Given the description of an element on the screen output the (x, y) to click on. 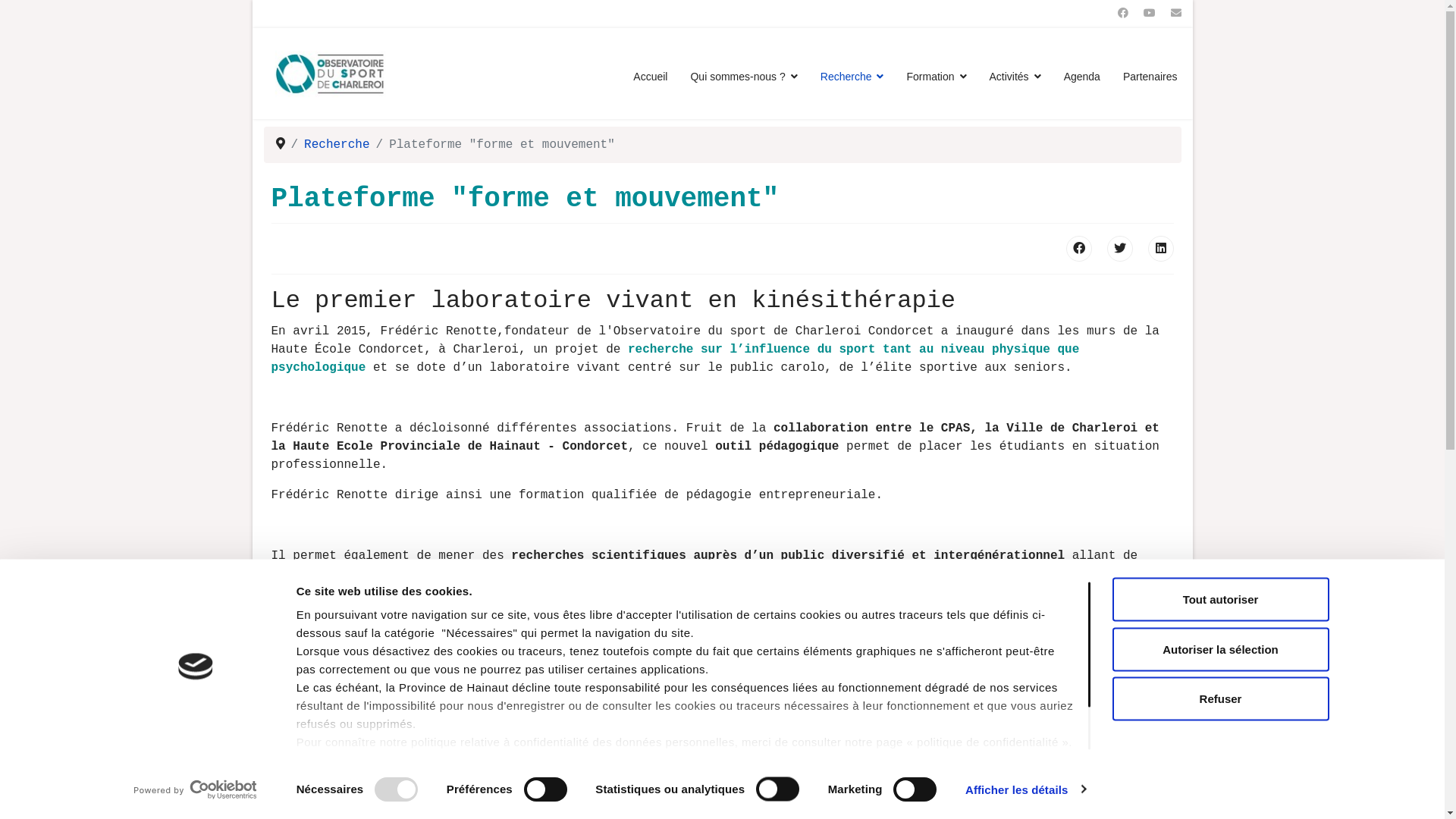
Recherche Element type: text (336, 144)
Refuser Element type: text (1219, 698)
Recherche Element type: text (852, 76)
Qui sommes-nous ? Element type: text (743, 76)
Facebook Element type: hover (1079, 248)
Partenaires Element type: text (1144, 76)
Agenda Element type: text (1081, 76)
Accueil Element type: text (649, 76)
Formation Element type: text (935, 76)
LinkedIn Element type: hover (1160, 248)
Twitter Element type: hover (1119, 248)
Tout autoriser Element type: text (1219, 599)
